Given the description of an element on the screen output the (x, y) to click on. 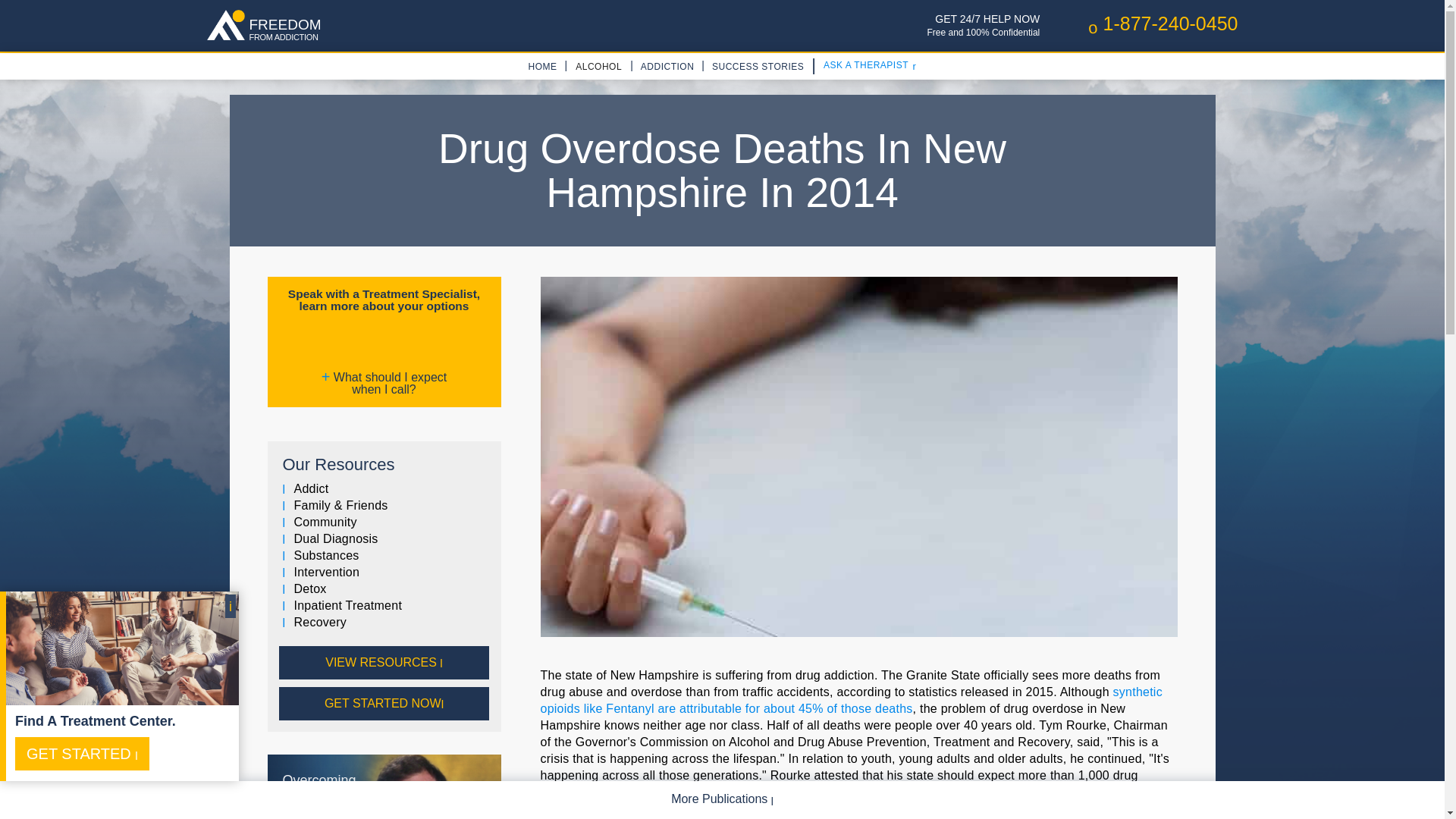
GET STARTED NOWl (268, 26)
HOME (383, 555)
ADDICTION (384, 703)
Overcoming addiction is possible. (542, 66)
VIEW RESOURCES l (667, 66)
o 1-877-240-0450 (383, 786)
ASK A THERAPIST r (384, 662)
